Given the description of an element on the screen output the (x, y) to click on. 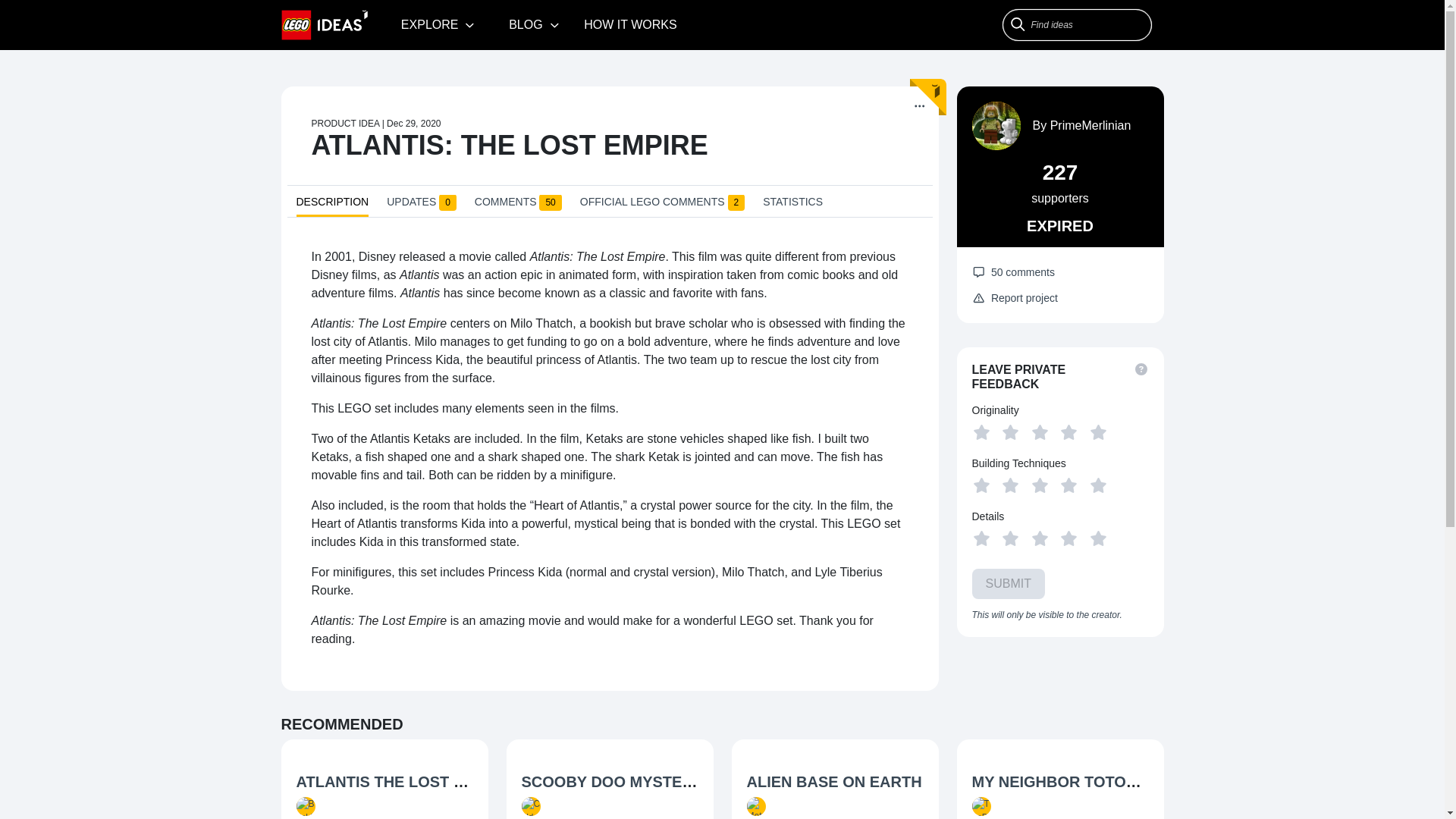
UPDATES 0 (422, 204)
2020-12-29T09:38:15.941518Z (414, 122)
Metalman.Bricks (793, 818)
ATLANTIS THE LOST EMPIRE - WELCOME TO THE CITY OF ATLANTIS (550, 781)
Brickitecture (333, 818)
Scooby Doo Mystery Inc. (609, 783)
BLOG (534, 24)
ColdestClownishWyplash (585, 818)
